Given the description of an element on the screen output the (x, y) to click on. 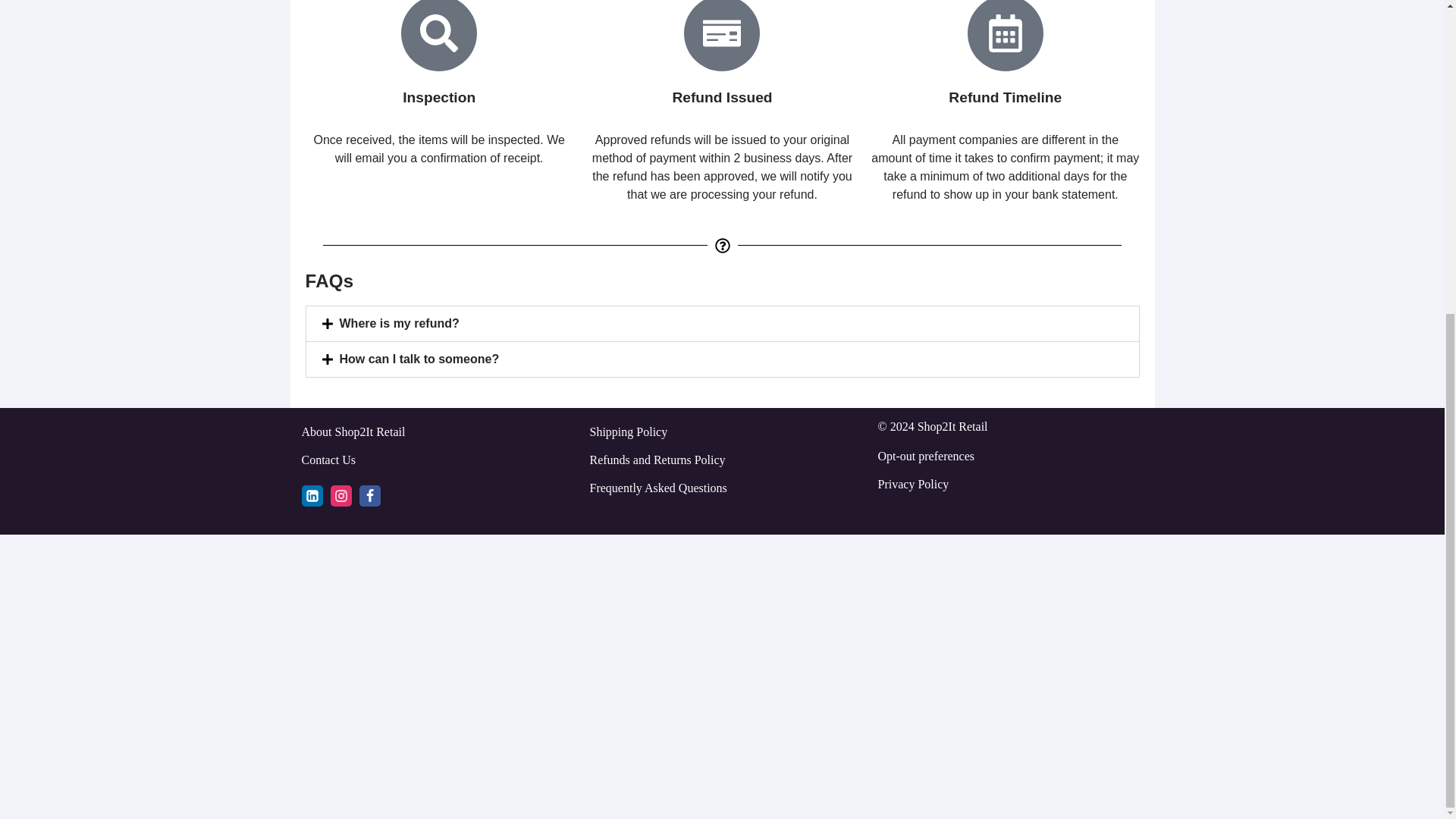
Instagram (341, 495)
Facebook (369, 495)
LinkedIn (312, 495)
